Given the description of an element on the screen output the (x, y) to click on. 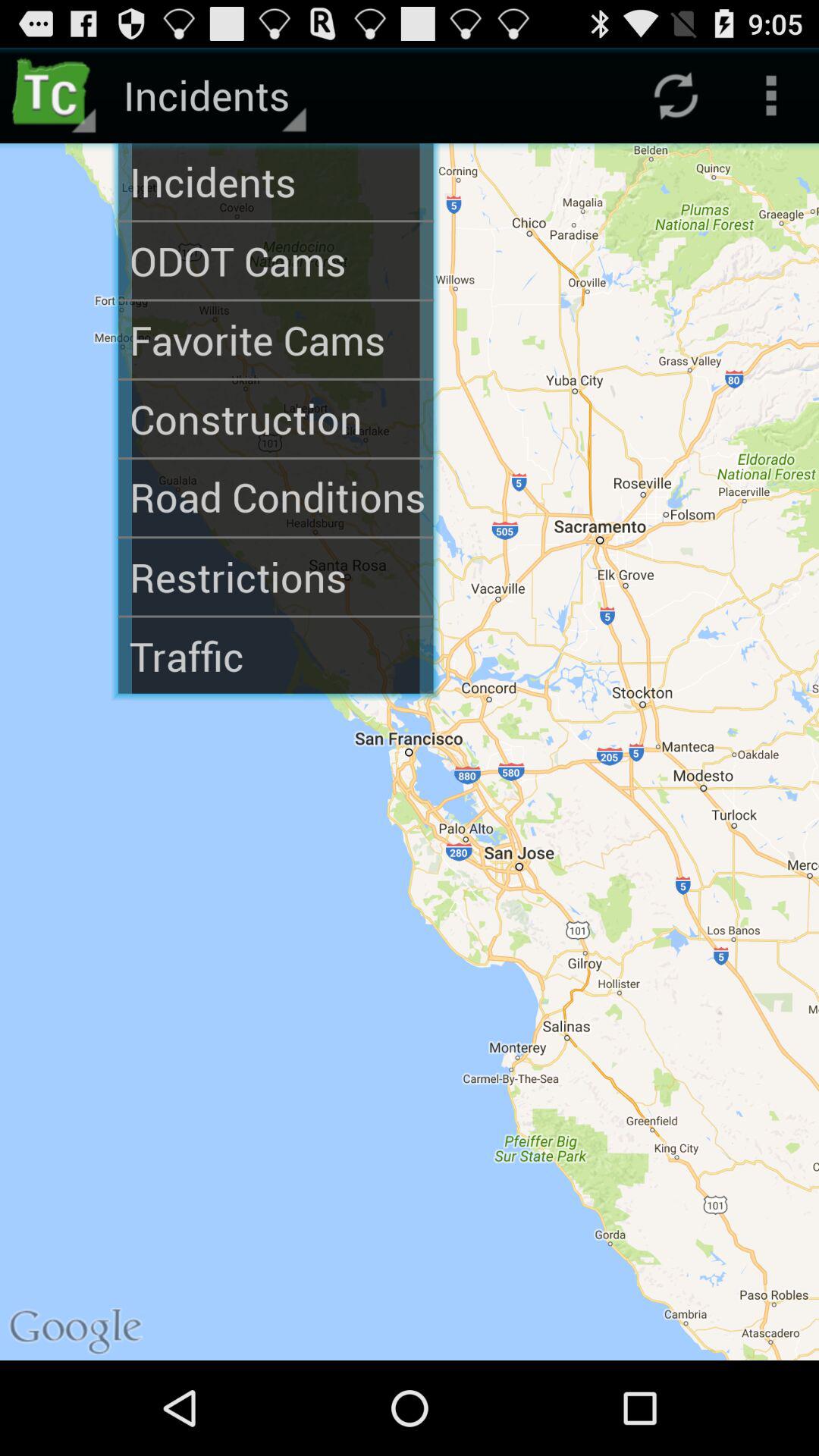
choose construction icon (275, 418)
